Given the description of an element on the screen output the (x, y) to click on. 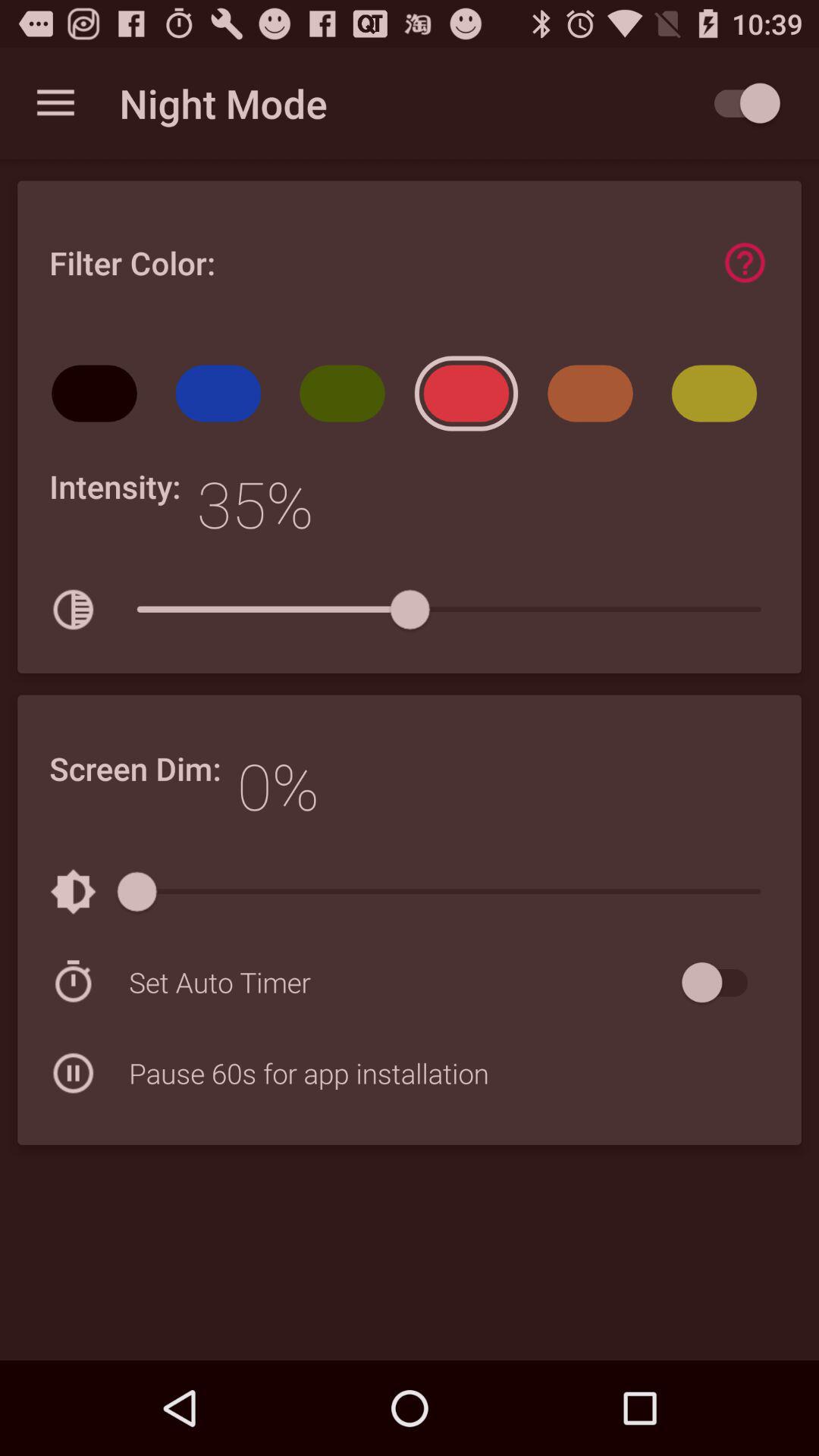
press icon above the pause 60s for icon (402, 982)
